Given the description of an element on the screen output the (x, y) to click on. 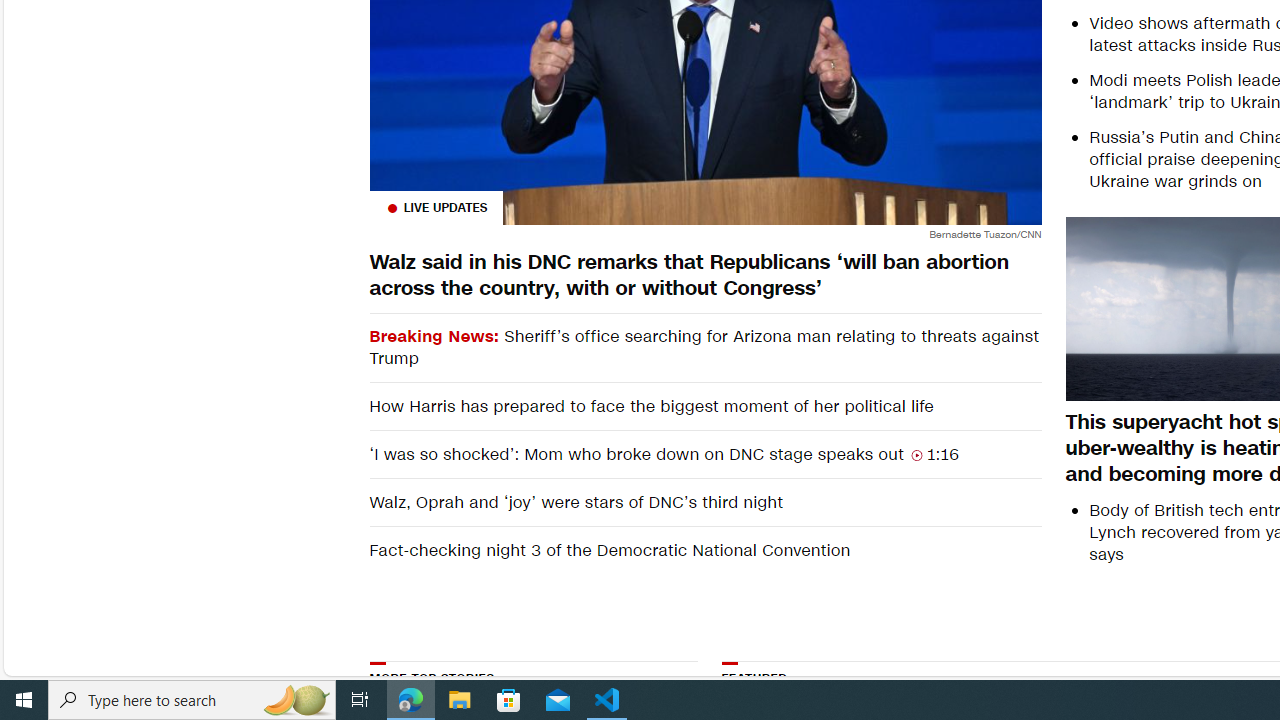
Task View (359, 699)
Start (24, 699)
Visual Studio Code - 1 running window (607, 699)
Type here to search (191, 699)
Microsoft Store (509, 699)
Class: container__video-duration-icon (916, 454)
File Explorer (460, 699)
Microsoft Edge - 1 running window (411, 699)
Fact-checking night 3 of the Democratic National Convention (704, 550)
